Given the description of an element on the screen output the (x, y) to click on. 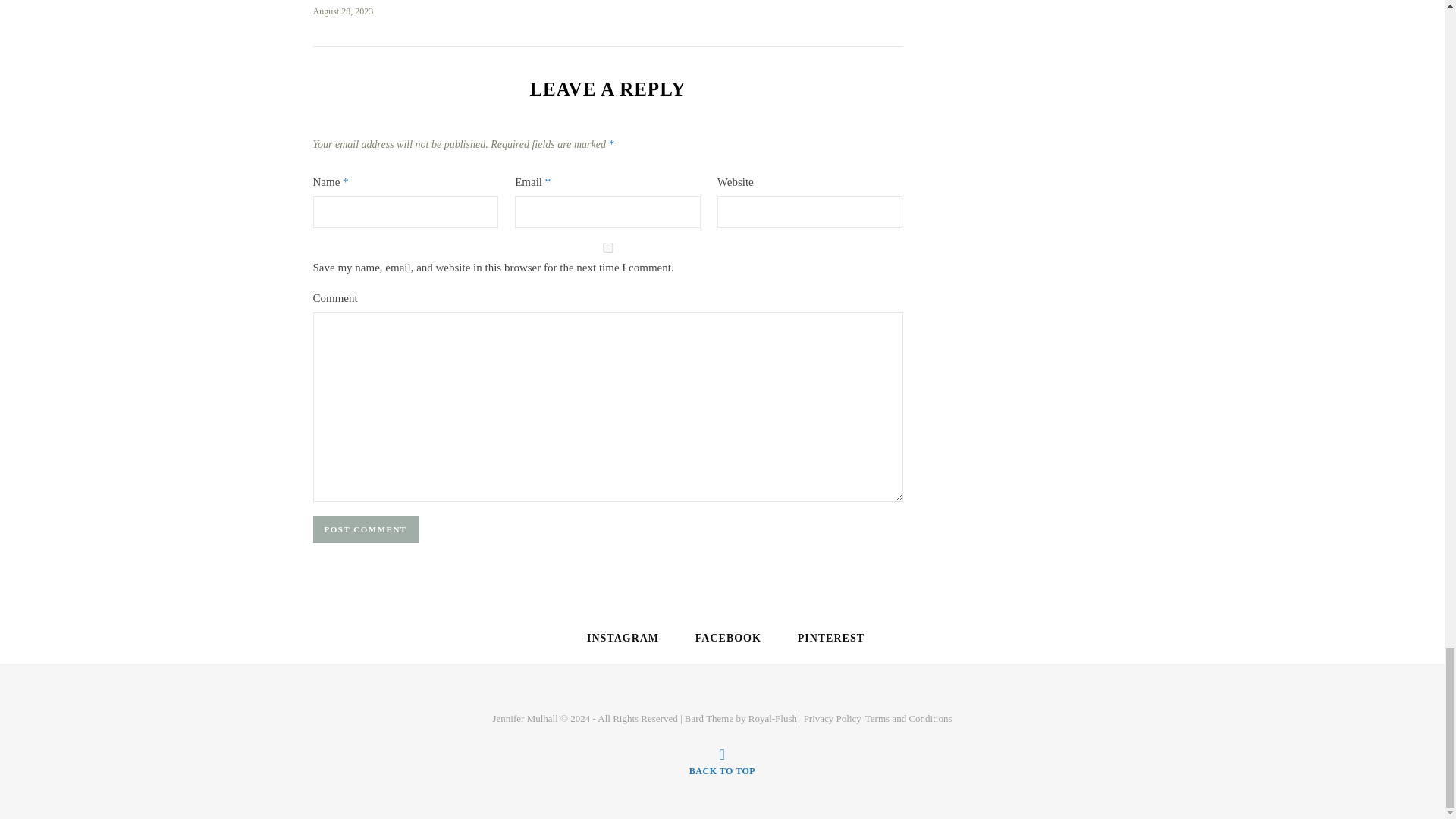
BACK TO TOP (722, 761)
yes (607, 247)
Post Comment (365, 528)
